Given the description of an element on the screen output the (x, y) to click on. 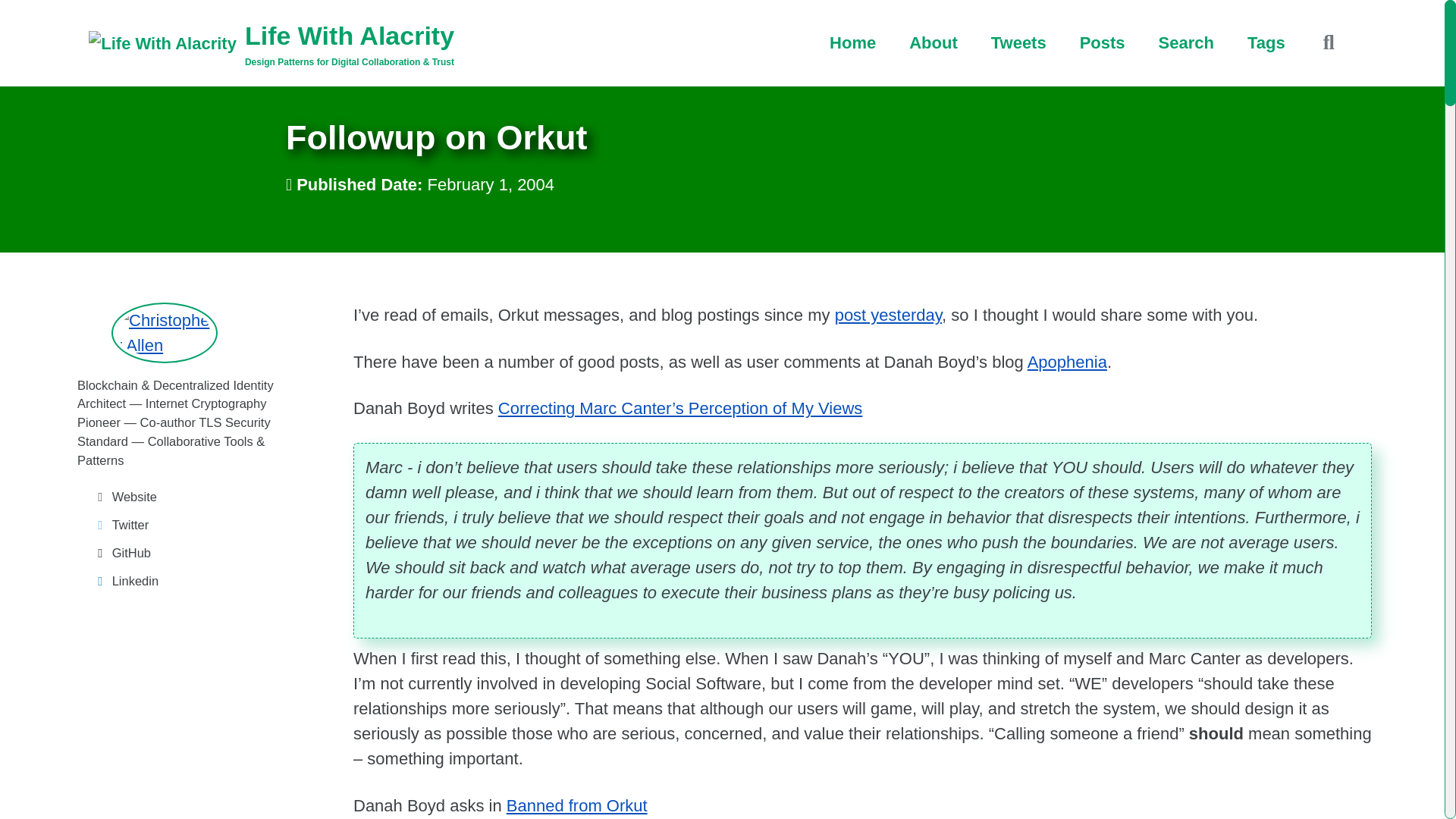
post yesterday (888, 314)
Apophenia (1066, 361)
Search (1186, 42)
Twitter (190, 525)
Linkedin (190, 581)
Tweets (1018, 42)
Tags (1266, 42)
Website (190, 496)
GitHub (190, 553)
